Given the description of an element on the screen output the (x, y) to click on. 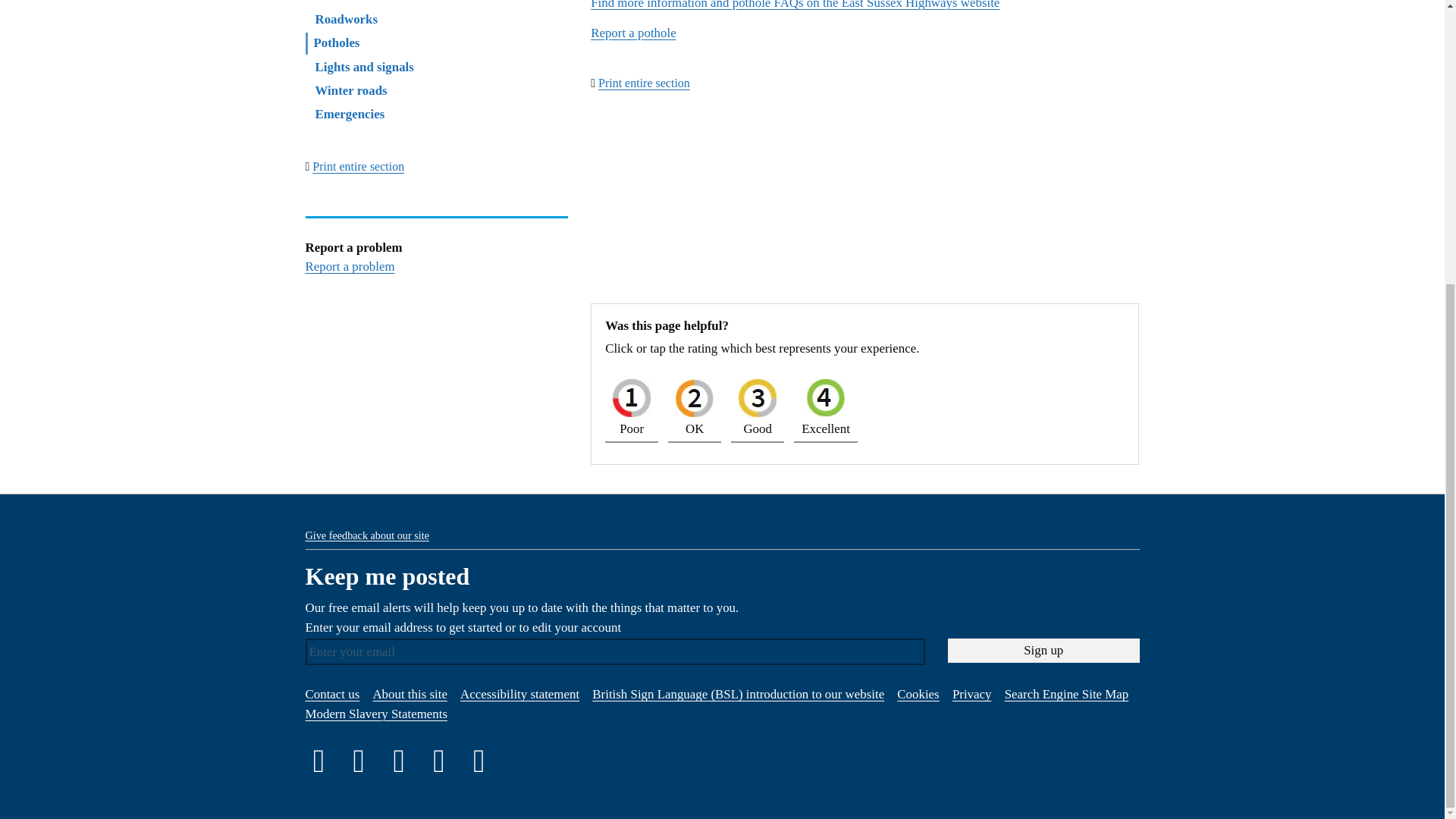
Sign up (1043, 650)
Print entire section (358, 165)
Print entire section (644, 82)
Lights and signals (364, 66)
Report a problem (349, 266)
Routine maintenance (372, 1)
Winter roads (351, 90)
Give feedback about our site (366, 535)
Report a pothole (633, 32)
Contact us (331, 694)
Accessibility statement (519, 694)
Roadworks (346, 19)
Emergencies (350, 114)
Excellent (825, 406)
